Given the description of an element on the screen output the (x, y) to click on. 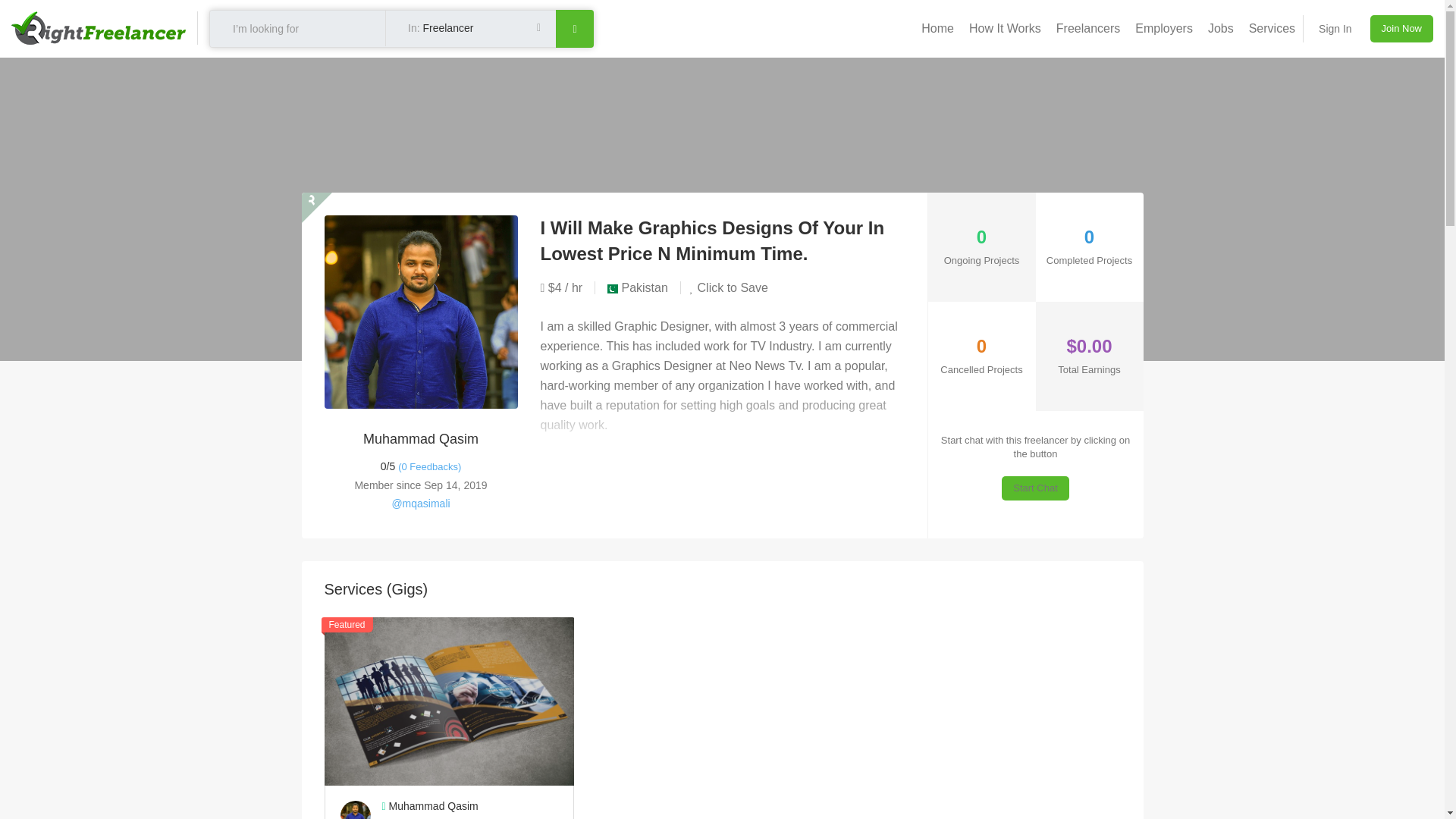
How It Works (1004, 28)
Jobs (1220, 28)
Start Chat (1034, 487)
Graphic Designer... (470, 817)
Click to Save (729, 287)
Employers (1162, 28)
Muhammad Qasim (470, 806)
Join Now (1401, 28)
Sign In (1335, 28)
Home (937, 28)
Freelancers (1087, 28)
Services (1272, 28)
